Given the description of an element on the screen output the (x, y) to click on. 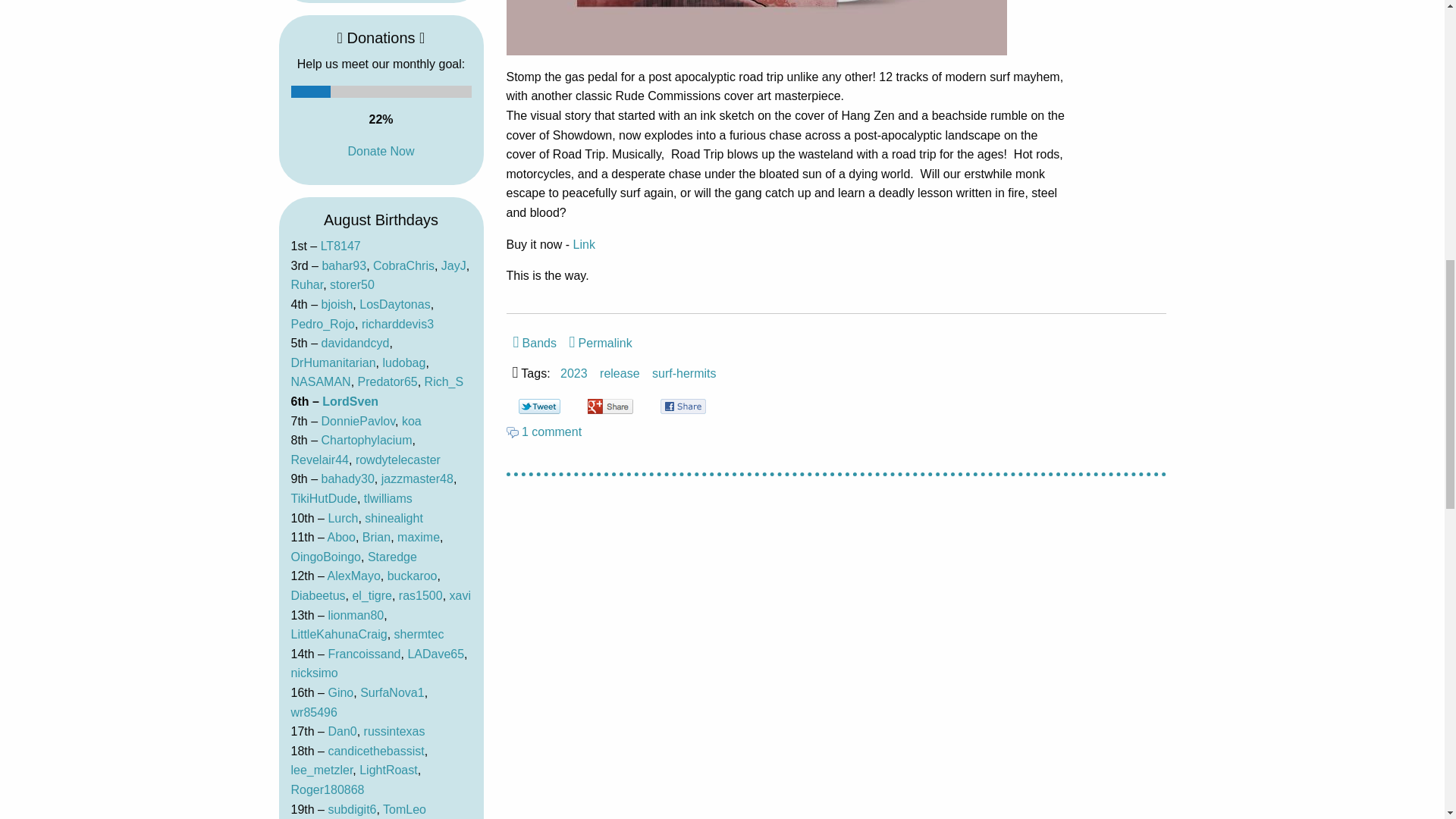
View profile for DrHumanitarian (333, 362)
View profile for bahar93 (343, 265)
View profile for bjoish (337, 304)
View profile for richarddevis3 (397, 323)
View profile for Ruhar (307, 284)
View profile for Predator65 (387, 381)
View profile for LosDaytonas (394, 304)
View profile for CobraChris (402, 265)
View profile for davidandcyd (355, 342)
View profile for JayJ (453, 265)
View profile for NASAMAN (320, 381)
View profile for ludobag (403, 362)
View profile for LT8147 (340, 245)
View profile for storer50 (352, 284)
